Given the description of an element on the screen output the (x, y) to click on. 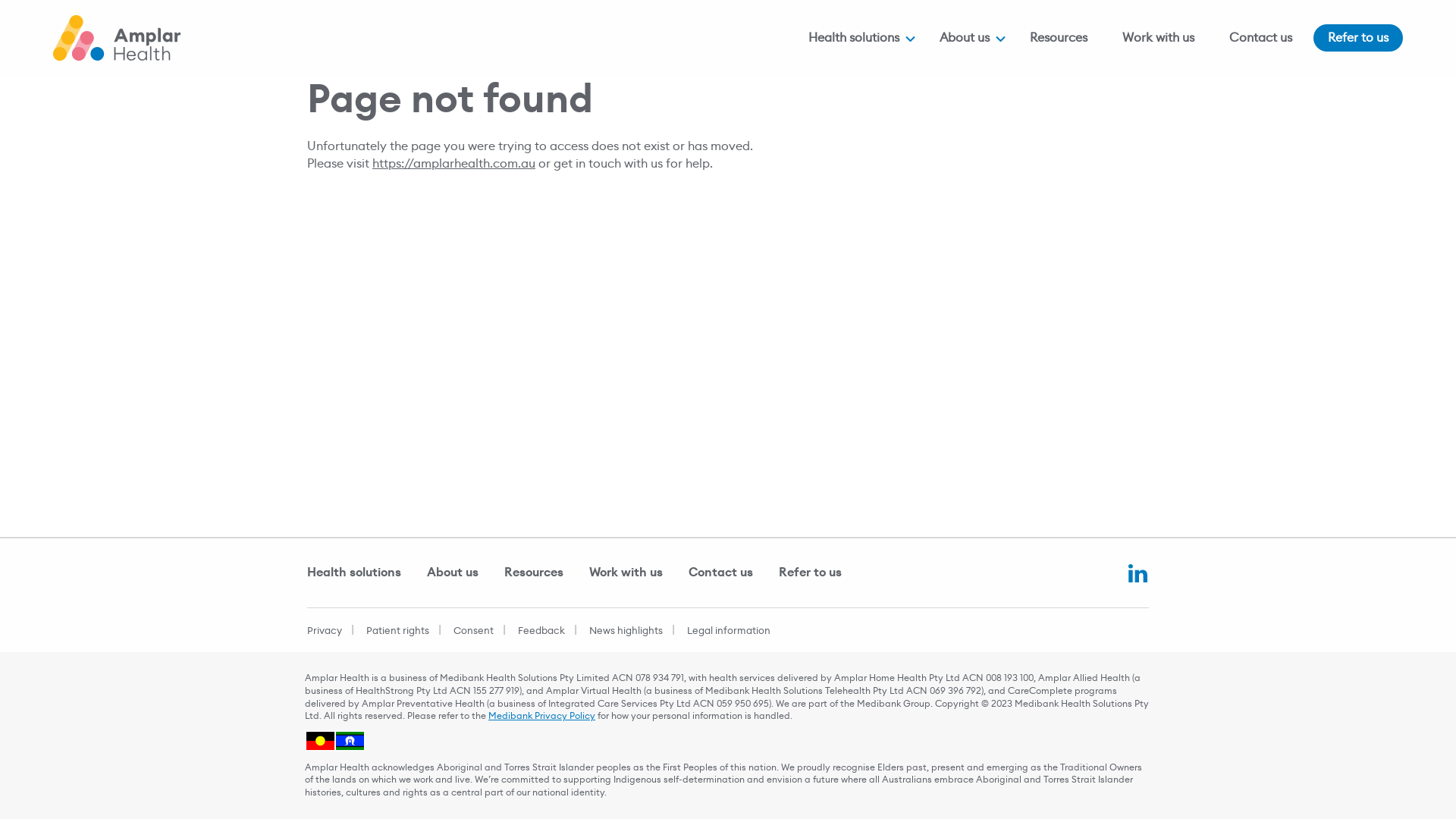
Privacy Element type: text (329, 630)
Contact us Element type: text (731, 572)
Work with us Element type: text (1158, 37)
Feedback Element type: text (541, 630)
About us Element type: text (463, 572)
About us Element type: text (964, 37)
Resources Element type: text (545, 572)
Contact us Element type: text (1260, 37)
Health solutions Element type: text (853, 37)
Patient rights Element type: text (397, 630)
https://amplarhealth.com.au Element type: text (453, 163)
Refer to us Element type: text (1357, 37)
Health solutions Element type: text (365, 572)
News highlights Element type: text (625, 630)
Legal information Element type: text (728, 630)
Consent Element type: text (473, 630)
Refer to us Element type: text (821, 572)
Resources Element type: text (1058, 37)
Medibank Privacy Policy Element type: text (541, 715)
Work with us Element type: text (637, 572)
